Given the description of an element on the screen output the (x, y) to click on. 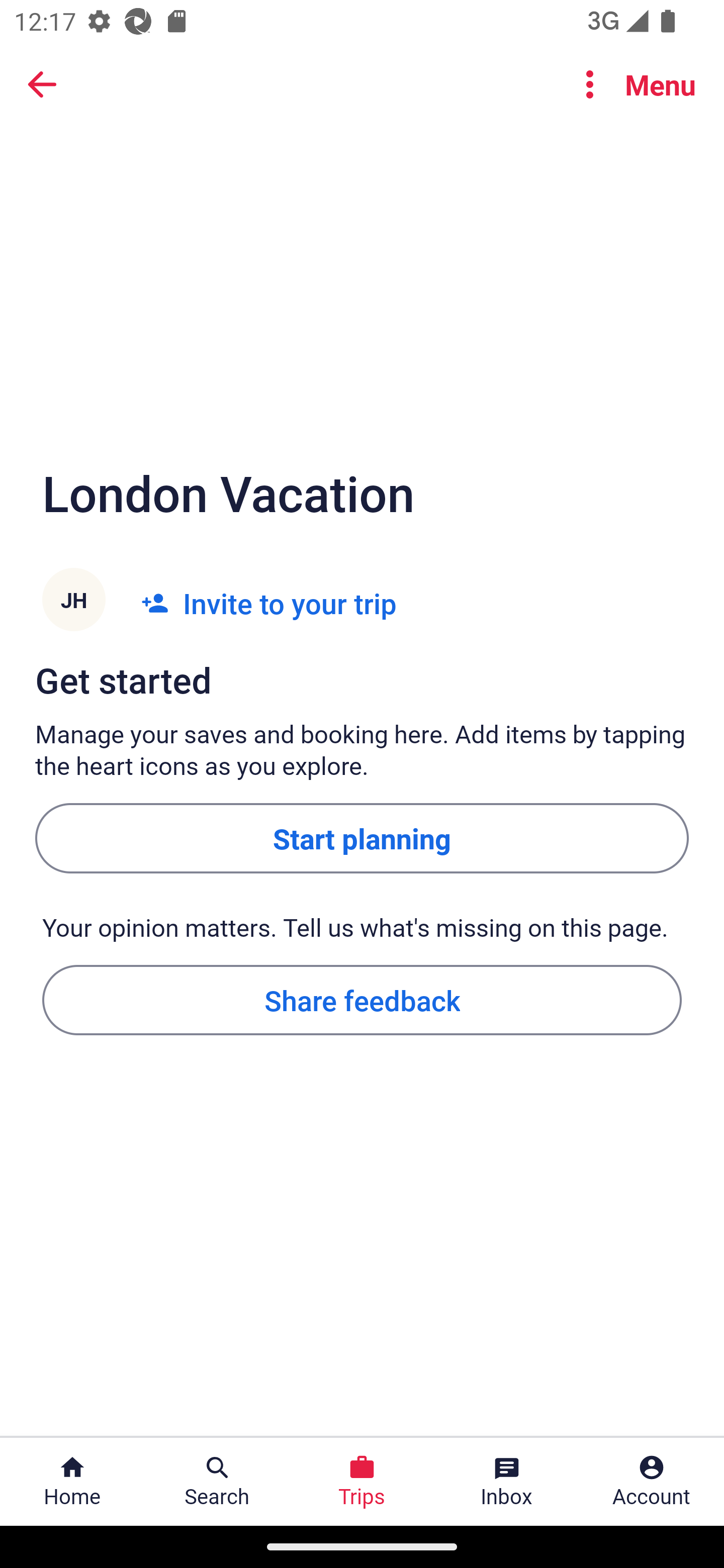
BACK (42, 84)
Menu Menu Button (632, 84)
JH J​H (73, 602)
Share feedback Button Share feedback (361, 999)
Home Home Button (72, 1481)
Search Search Button (216, 1481)
Inbox Inbox Button (506, 1481)
Account Profile. Button (651, 1481)
